Given the description of an element on the screen output the (x, y) to click on. 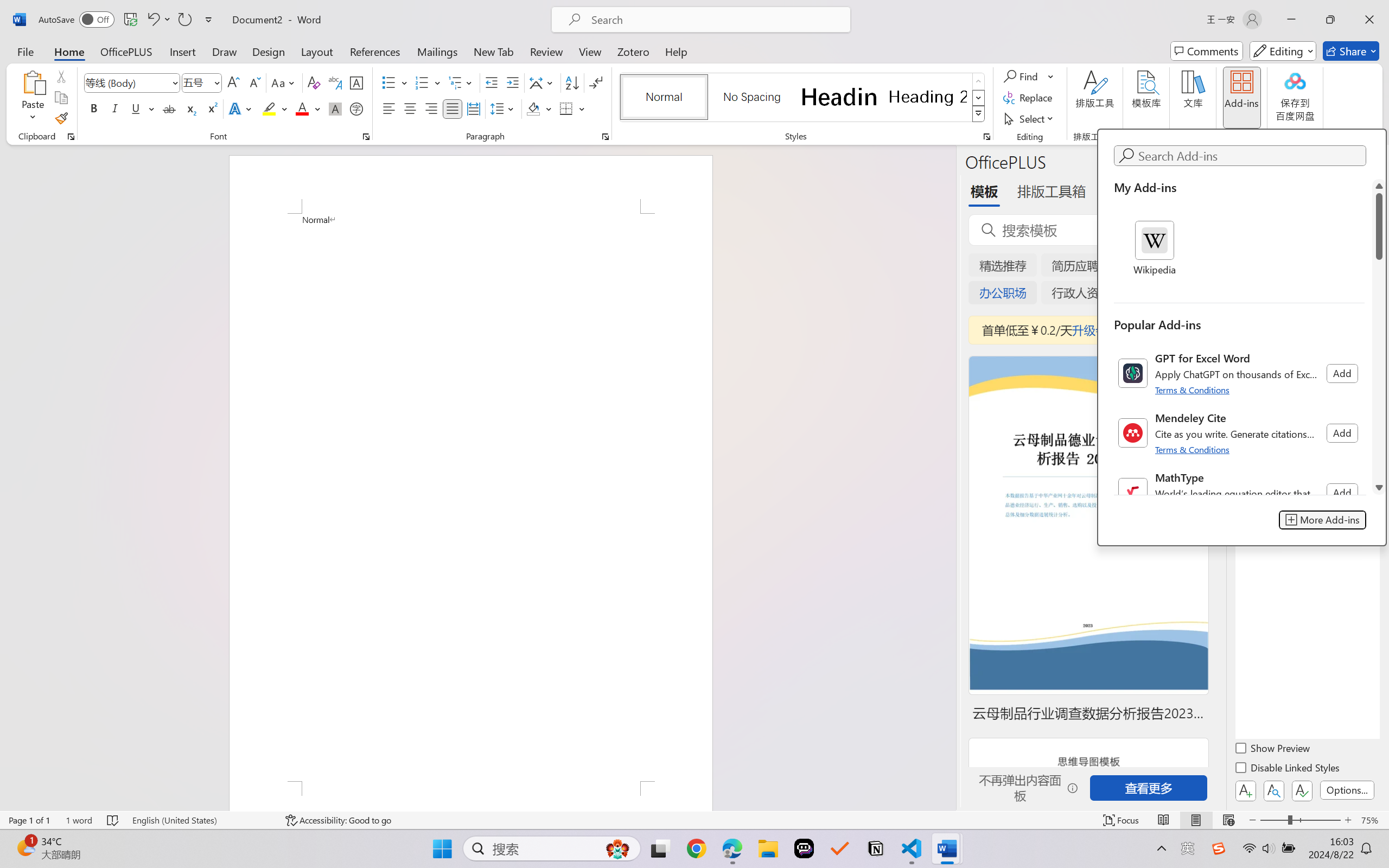
Italic (115, 108)
Find (1029, 75)
Copy (60, 97)
Decrease Indent (491, 82)
Shading (539, 108)
Class: MsoCommandBar (694, 819)
Heading 2 (927, 96)
Minimize (1291, 19)
Heading 1 (839, 96)
Paste (33, 97)
AutoSave (76, 19)
Shading RGB(0, 0, 0) (533, 108)
